Given the description of an element on the screen output the (x, y) to click on. 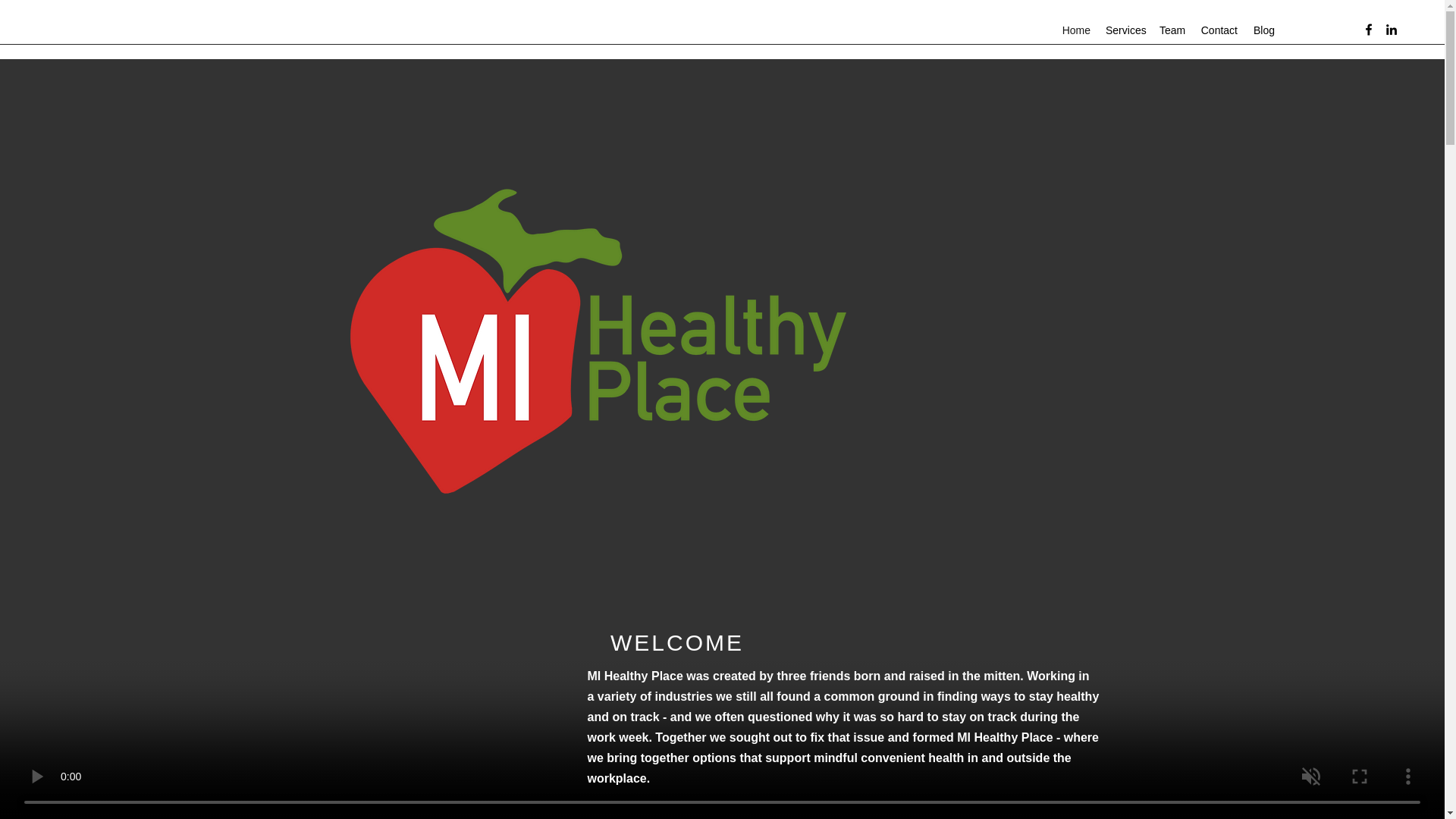
Blog (1263, 29)
Contact (1218, 29)
Services (1124, 29)
Home (1075, 29)
Team (1171, 29)
